Given the description of an element on the screen output the (x, y) to click on. 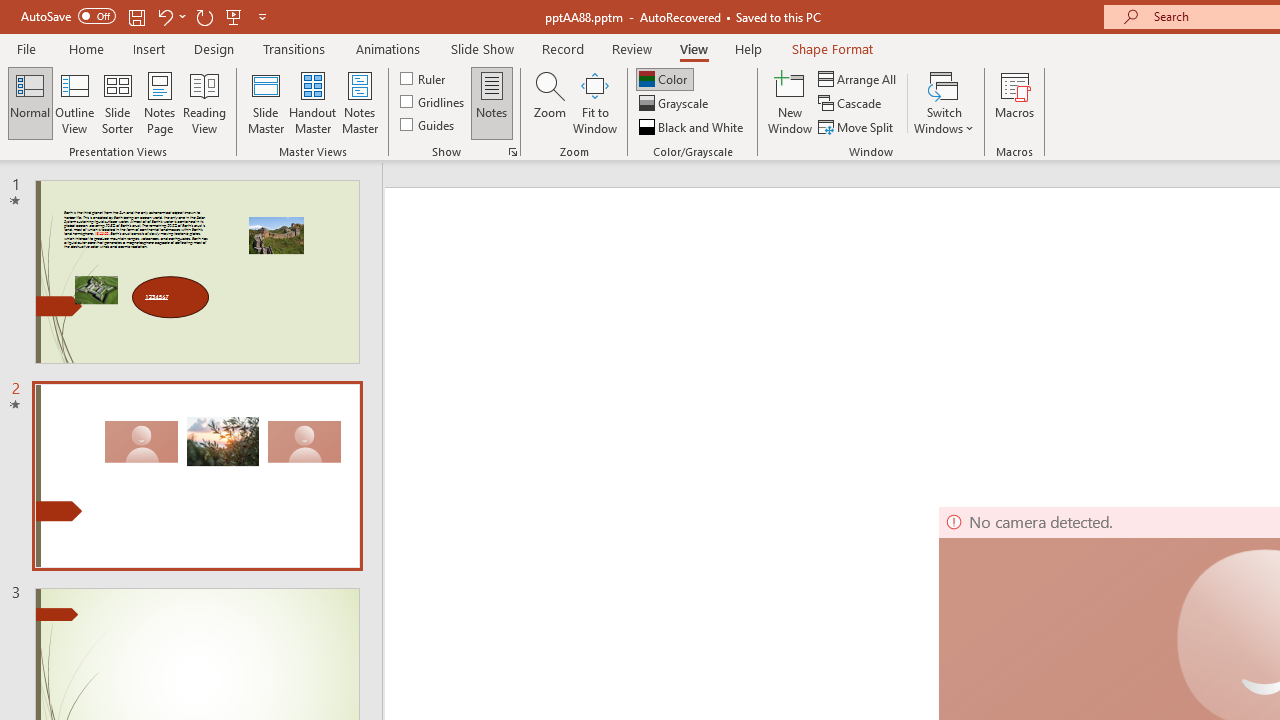
Gridlines (433, 101)
Notes Page (159, 102)
Cascade (851, 103)
Color (664, 78)
